Given the description of an element on the screen output the (x, y) to click on. 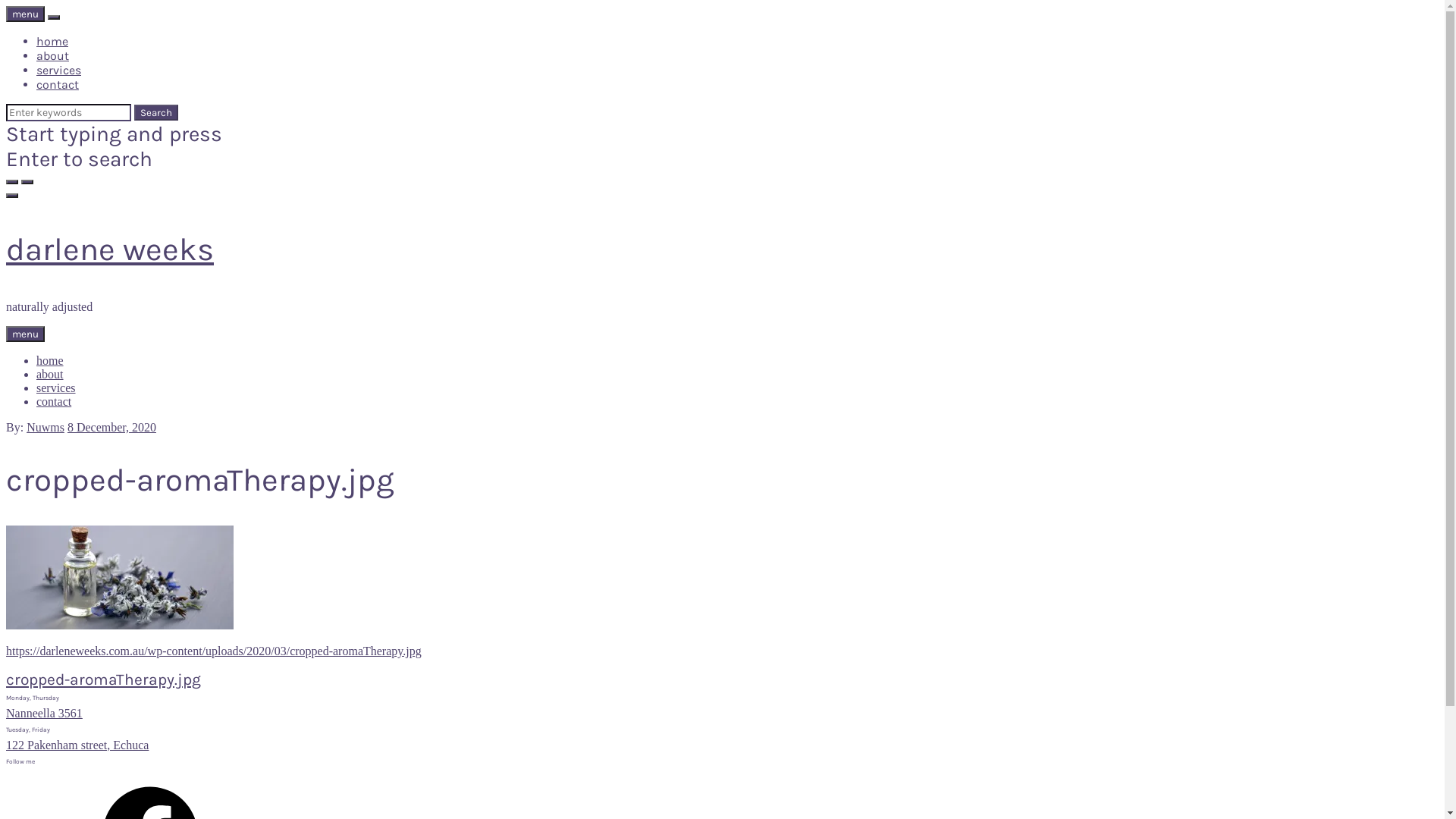
about Element type: text (49, 373)
darlene weeks Element type: text (109, 249)
contact Element type: text (57, 84)
menu Element type: text (25, 334)
cropped-aromaTherapy.jpg Element type: text (103, 679)
Nanneella 3561 Element type: text (44, 712)
home Element type: text (52, 41)
about Element type: text (52, 55)
8 December, 2020 Element type: text (111, 426)
services Element type: text (58, 69)
home Element type: text (49, 360)
Search Element type: text (156, 112)
menu Element type: text (25, 13)
open search form Element type: text (12, 181)
122 Pakenham street, Echuca Element type: text (77, 744)
Skip to content Element type: text (5, 229)
close search form Element type: text (27, 181)
Nuwms Element type: text (45, 426)
contact Element type: text (53, 401)
services Element type: text (55, 387)
